Given the description of an element on the screen output the (x, y) to click on. 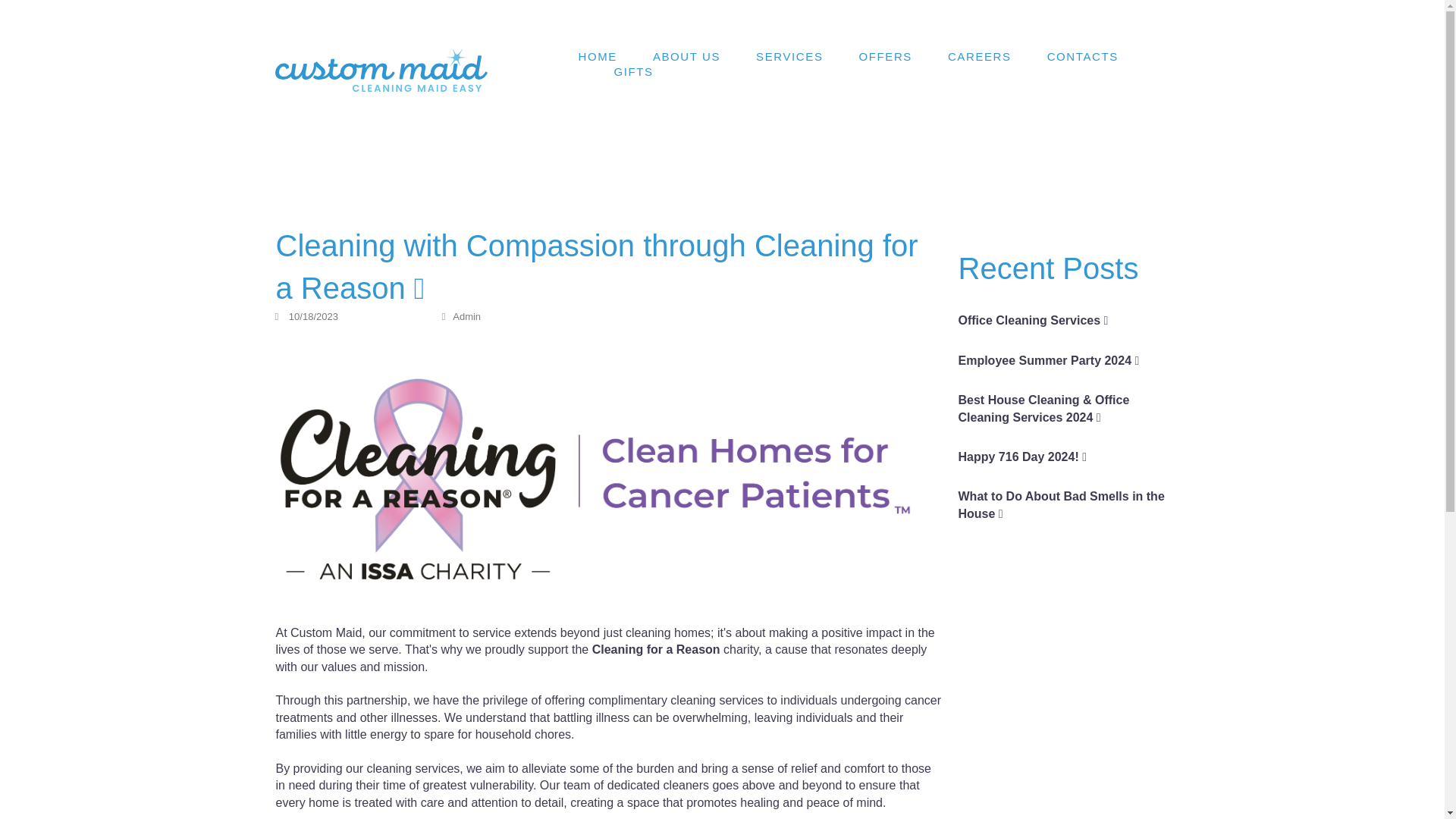
CAREERS (979, 56)
OFFERS (885, 56)
GIFTS (632, 71)
HOME (596, 56)
CONTACTS (1082, 56)
Cleaning for a Reason (656, 649)
SERVICES (788, 56)
ABOUT US (686, 56)
